Given the description of an element on the screen output the (x, y) to click on. 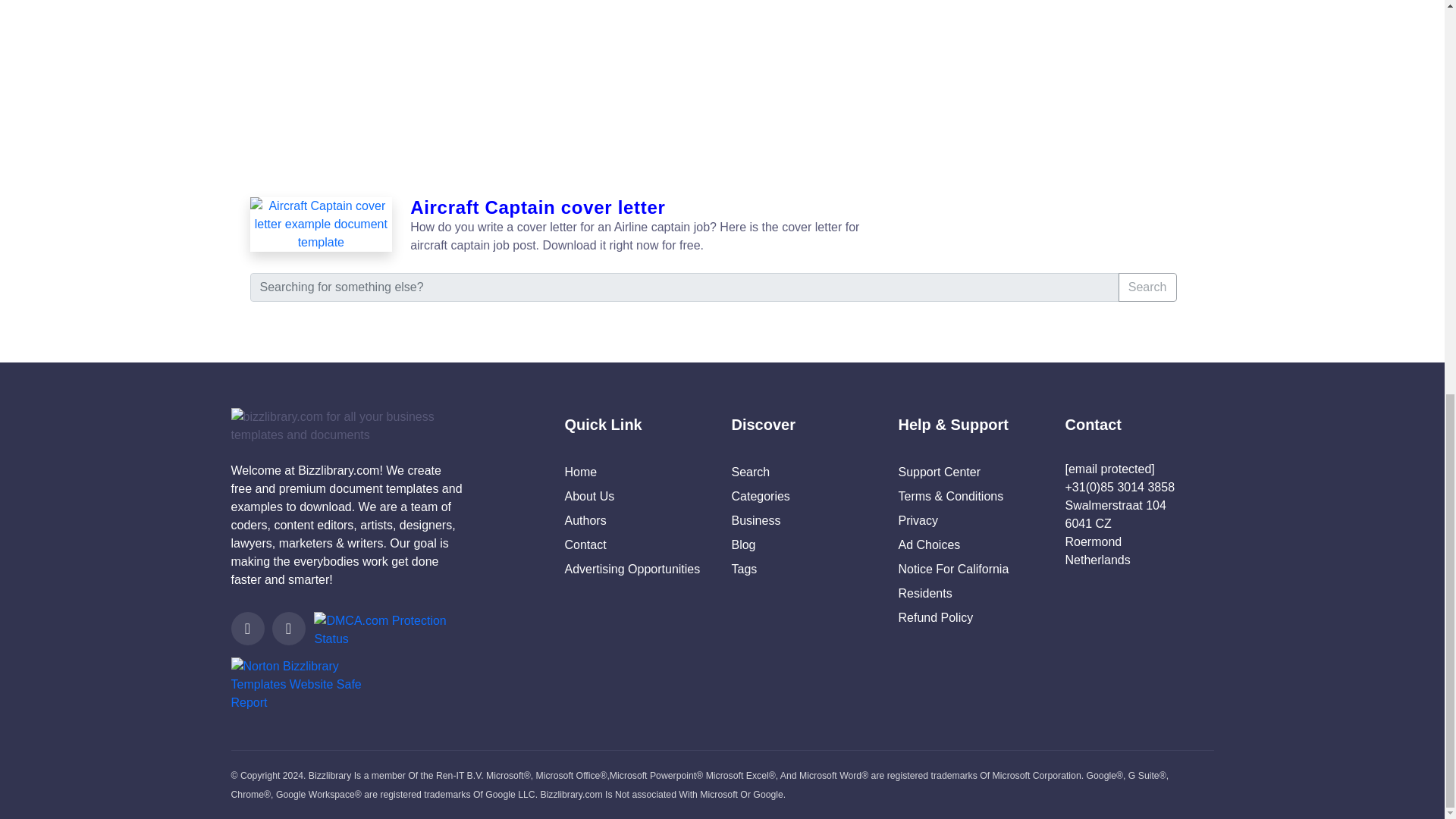
Tags (743, 568)
Contact (584, 544)
Support Center (938, 472)
Ad Choices (928, 544)
Twitter (246, 628)
Refund Policy (935, 617)
Aircraft Captain cover letter (321, 224)
Authors (584, 520)
About Us (589, 495)
Aircraft Captain cover letter (321, 226)
Business (755, 520)
Categories (759, 495)
Notice For California Residents (953, 580)
Aircraft Captain cover letter (641, 208)
Search (750, 472)
